Given the description of an element on the screen output the (x, y) to click on. 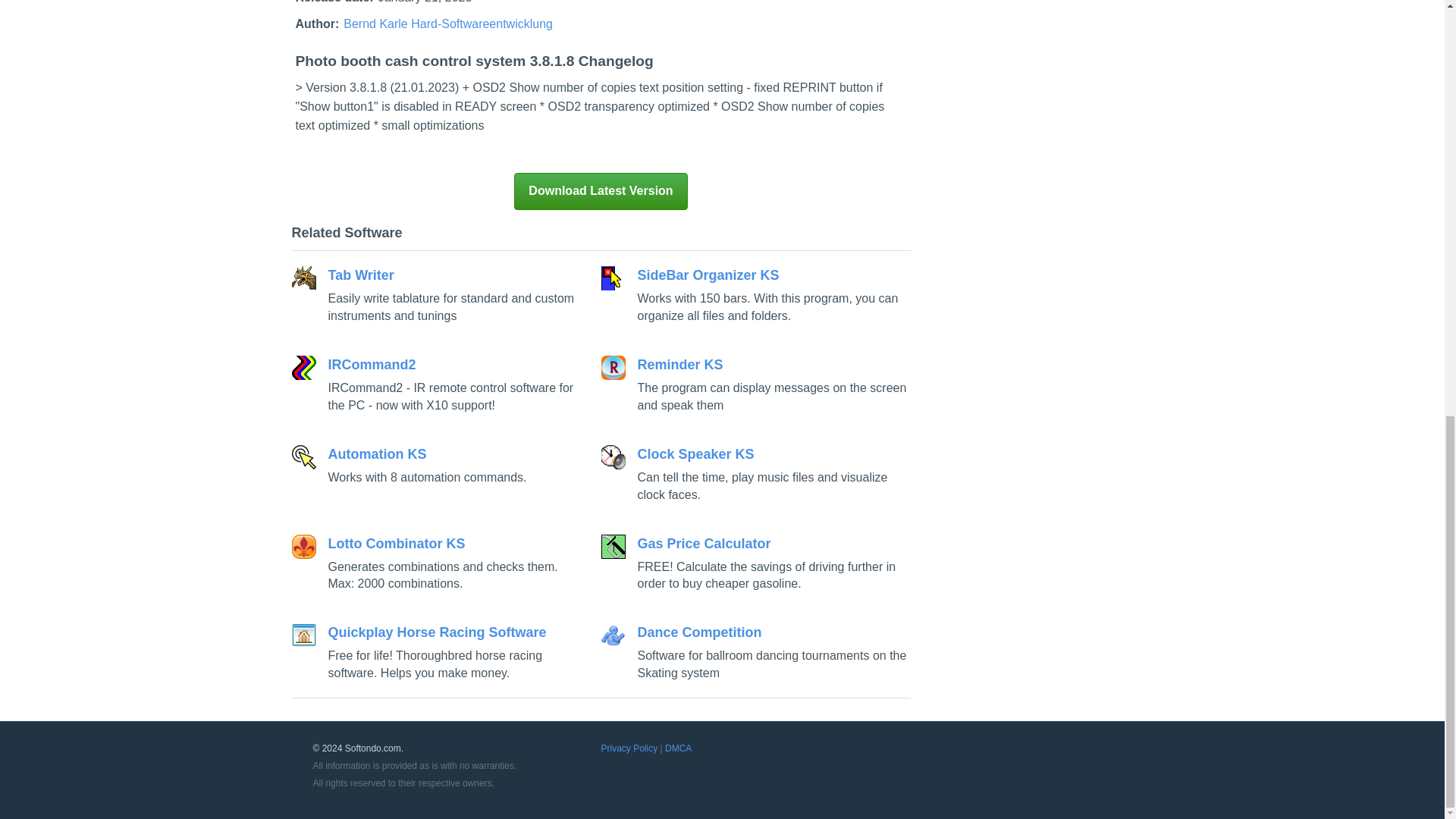
Reminder KS (754, 384)
Download Latest Version (600, 190)
Automation KS (438, 465)
SideBar Organizer KS (754, 295)
Bernd Karle Hard-Softwareentwicklung (448, 23)
